Given the description of an element on the screen output the (x, y) to click on. 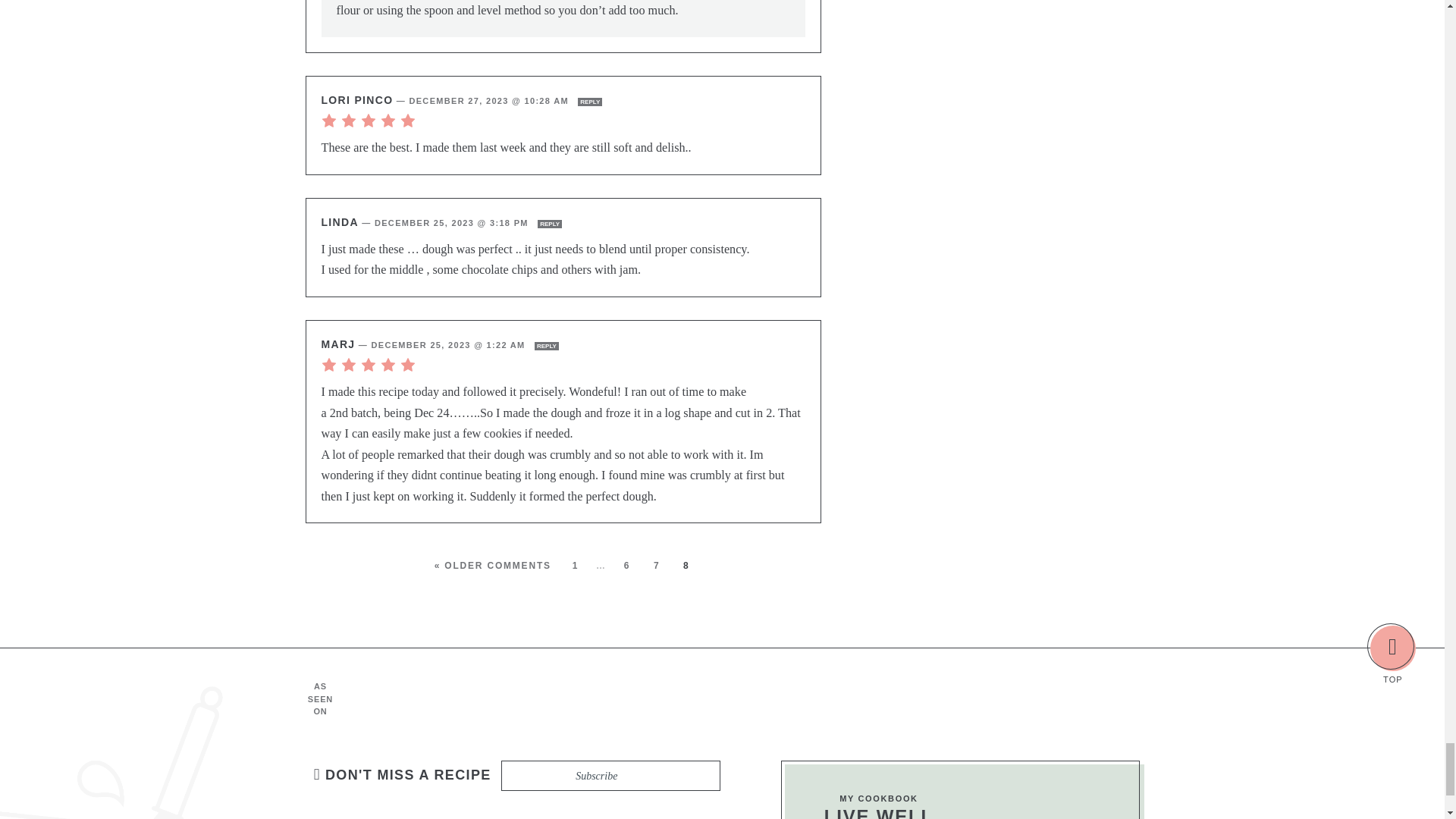
As Seen On (744, 698)
Back to Top (1392, 647)
Buy Yours Today (1048, 799)
